Given the description of an element on the screen output the (x, y) to click on. 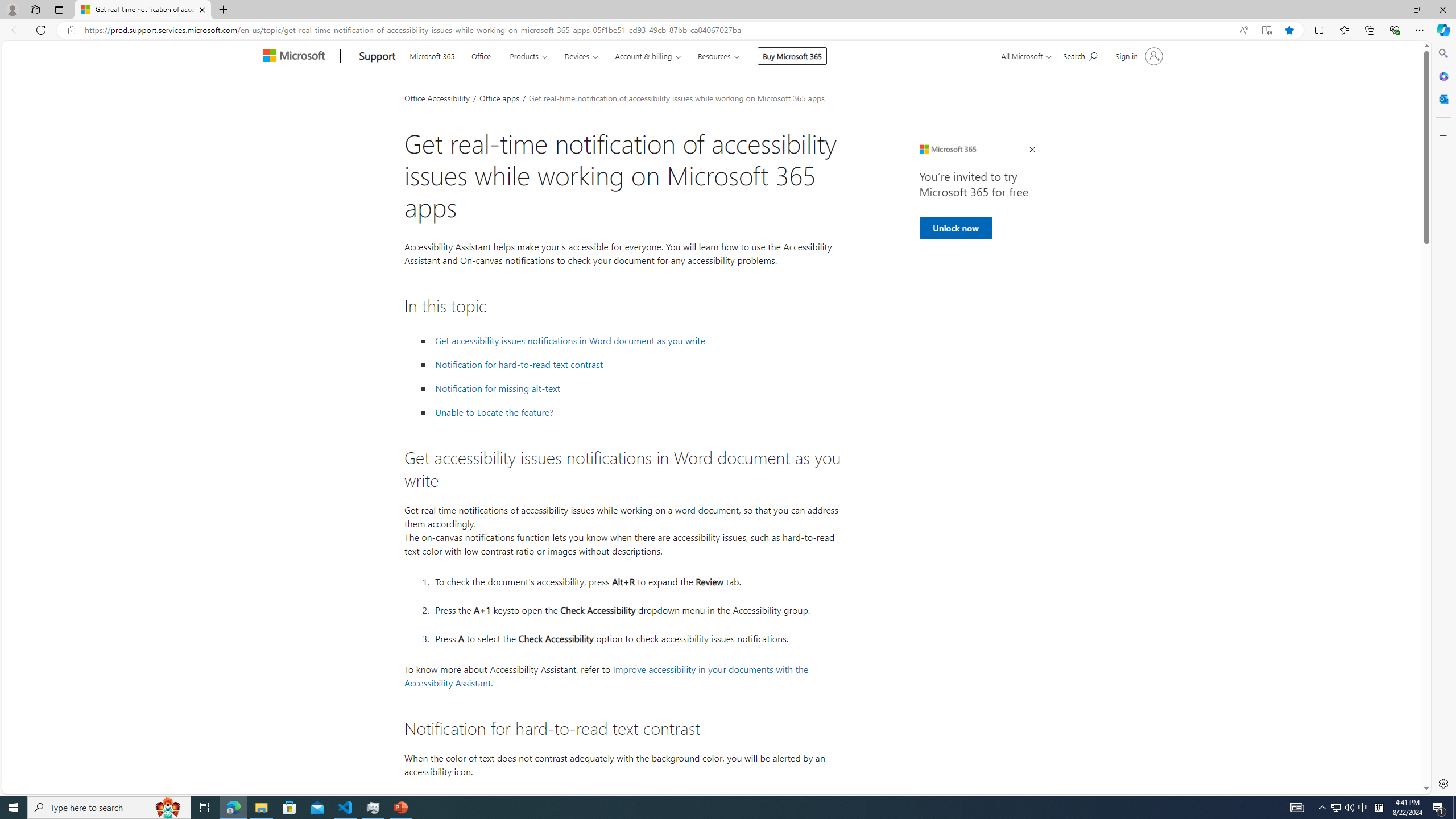
New Tab (223, 9)
Restore (1416, 9)
Copilot (Ctrl+Shift+.) (1442, 29)
Read aloud this page (Ctrl+Shift+U) (1243, 29)
Settings and more (Alt+F) (1419, 29)
Microsoft 365 (1442, 76)
Side bar (1443, 418)
Refresh (40, 29)
Microsoft (295, 56)
Favorites (1344, 29)
Microsoft 365 (432, 54)
 Unable to Locate the feature? (494, 412)
Notification for missing alt-text (635, 388)
